Given the description of an element on the screen output the (x, y) to click on. 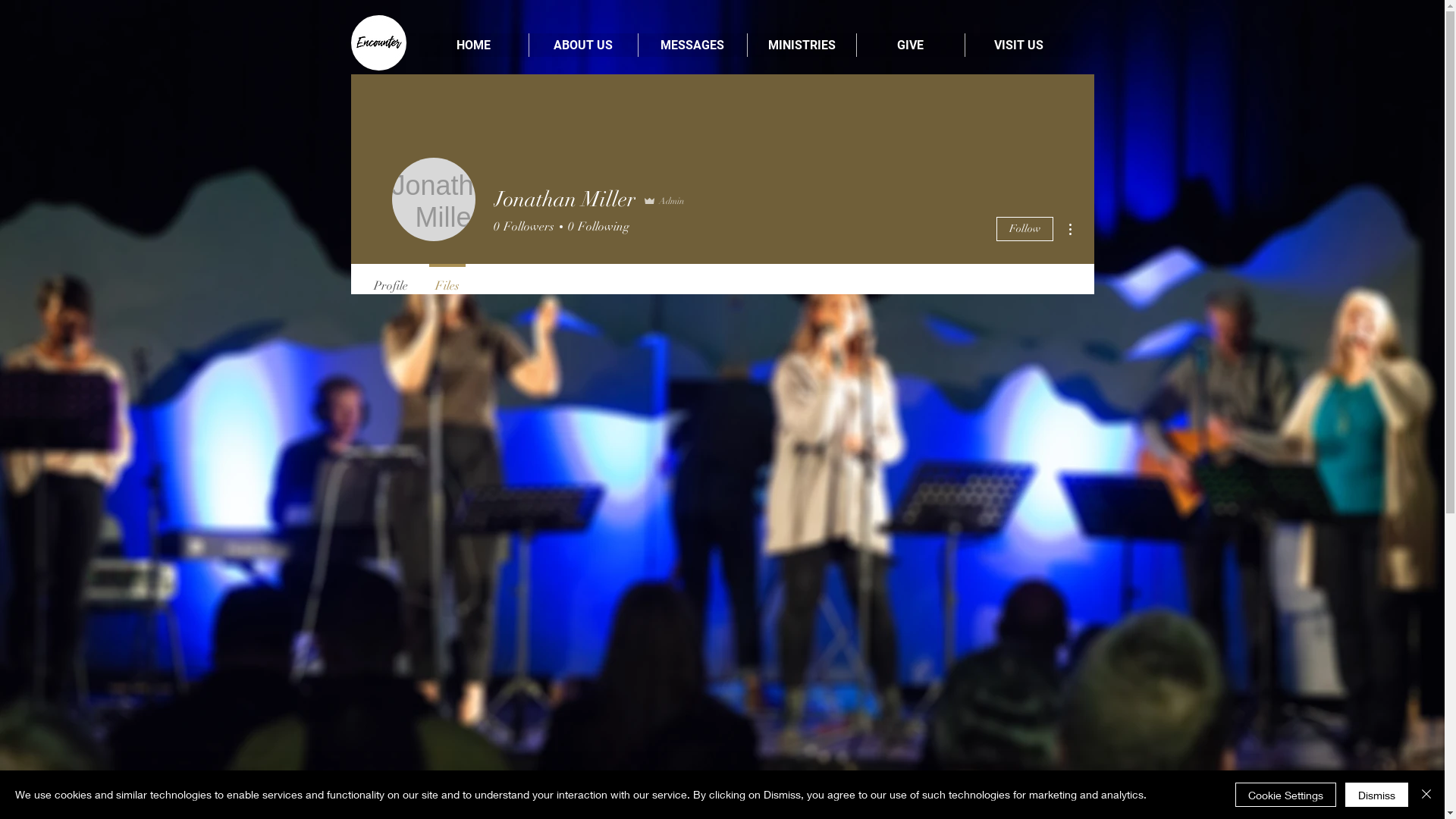
Jonathan Miller Element type: hover (432, 199)
Profile Element type: text (389, 278)
0
Followers Element type: text (522, 226)
Follow Element type: text (1024, 228)
ABOUT US Element type: text (582, 44)
Dismiss Element type: text (1376, 794)
Files Element type: text (447, 278)
VISIT US Element type: text (1018, 44)
HOME Element type: text (472, 44)
Cookie Settings Element type: text (1285, 794)
0
Following Element type: text (595, 226)
GIVE Element type: text (909, 44)
MESSAGES Element type: text (691, 44)
